Given the description of an element on the screen output the (x, y) to click on. 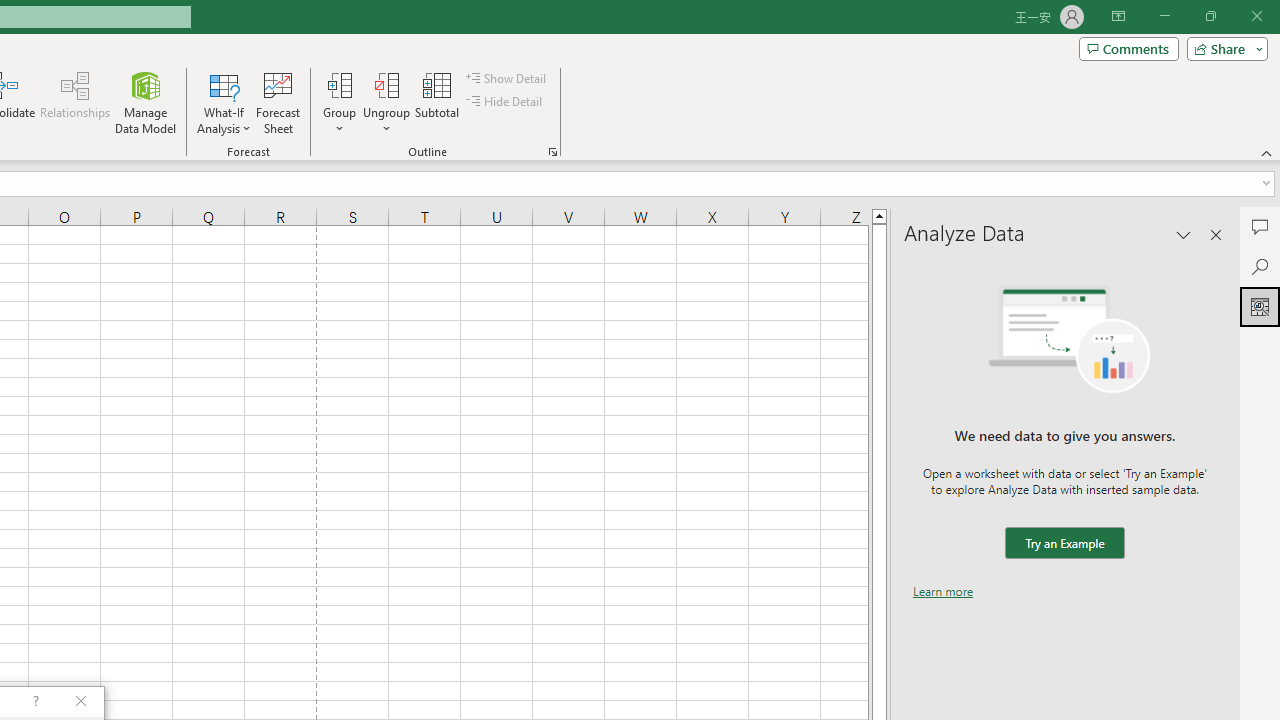
Manage Data Model (145, 102)
Show Detail (507, 78)
Hide Detail (505, 101)
Forecast Sheet (278, 102)
We need data to give you answers. Try an Example (1064, 543)
